Given the description of an element on the screen output the (x, y) to click on. 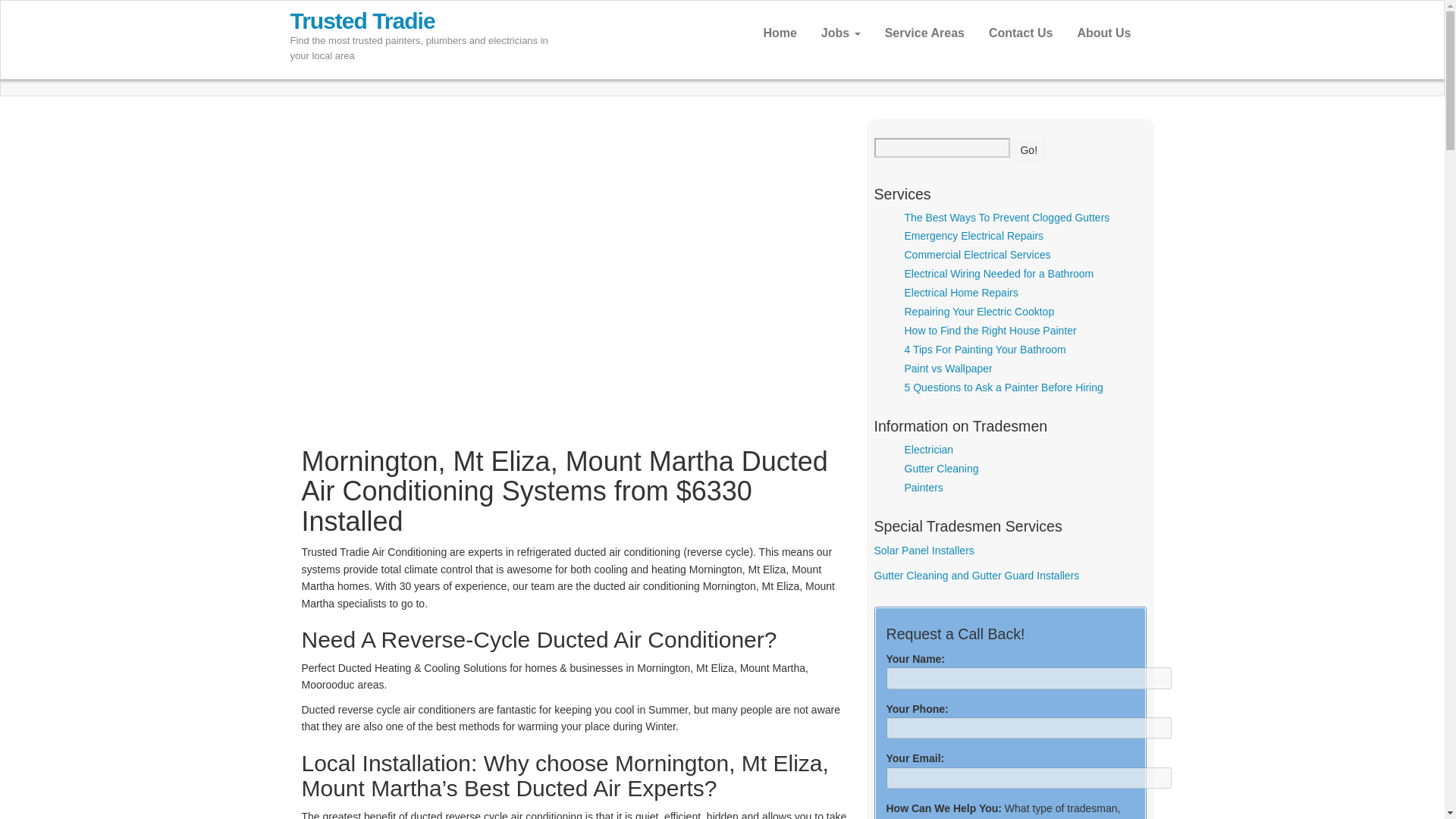
Home (779, 33)
Home (779, 33)
Contact Us (1020, 33)
Jobs (840, 33)
About Us (1103, 33)
About Us (1103, 33)
Service Areas (924, 33)
Contact Us (1020, 33)
Jobs (840, 33)
Service Areas (924, 33)
